Given the description of an element on the screen output the (x, y) to click on. 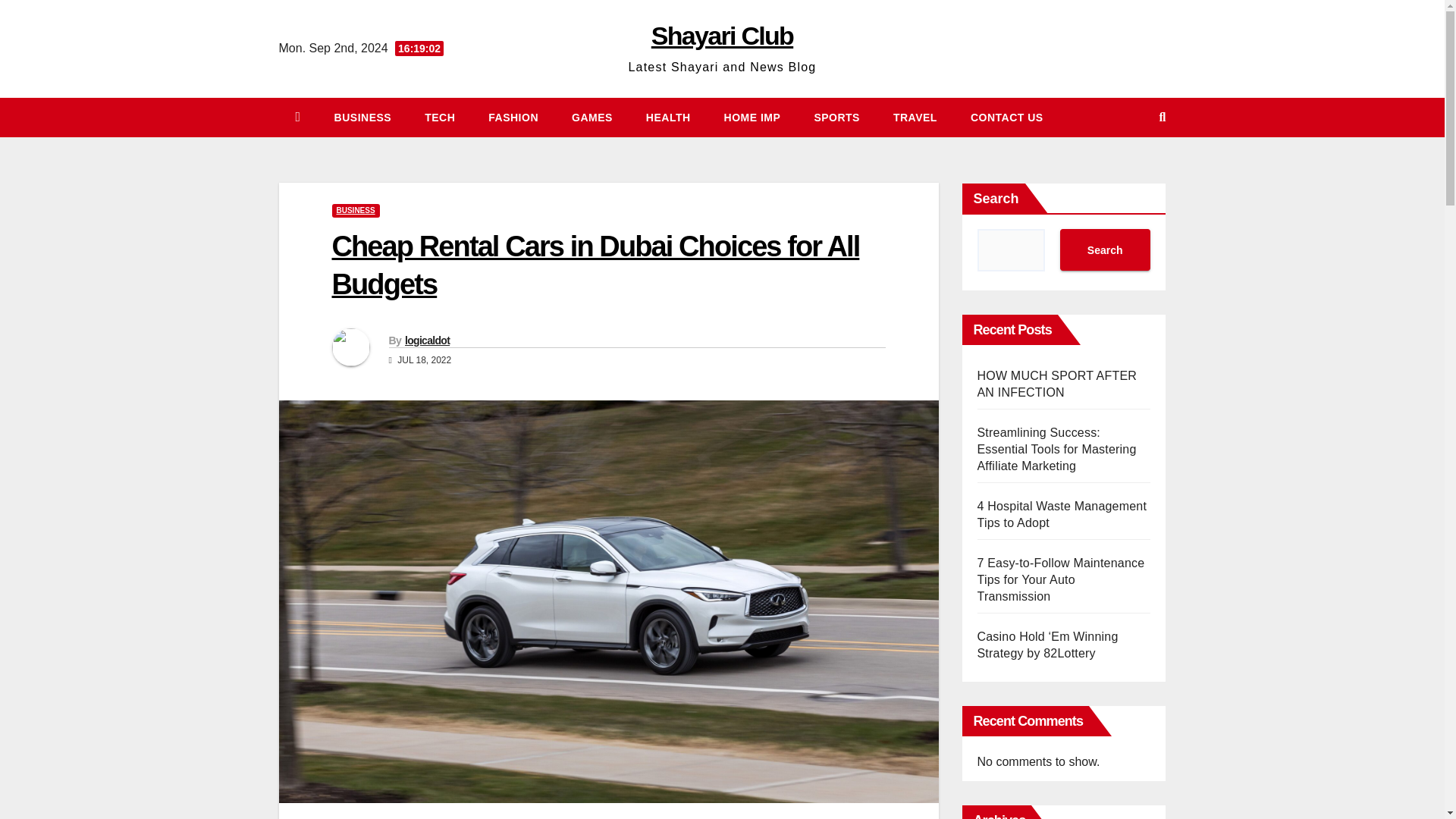
Health (667, 117)
BUSINESS (363, 117)
Cheap Rental Cars in Dubai Choices for All Budgets (595, 264)
HEALTH (667, 117)
TECH (439, 117)
logicaldot (426, 340)
Shayari Club (721, 35)
GAMES (591, 117)
Fashion (512, 117)
Tech (439, 117)
